Given the description of an element on the screen output the (x, y) to click on. 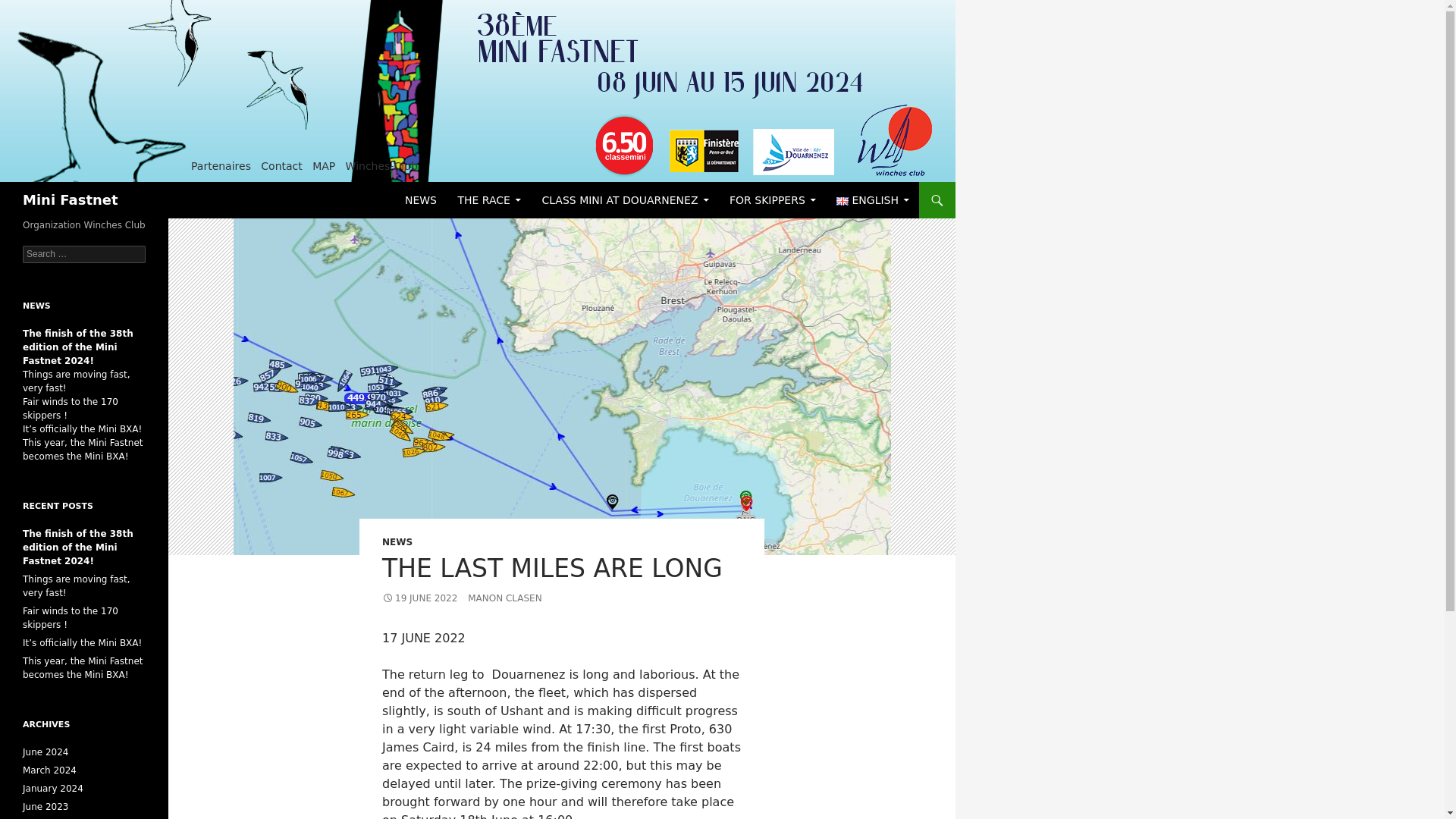
19 JUNE 2022 (419, 597)
Contact (280, 165)
Things are moving fast, very fast! (77, 381)
NEWS (396, 542)
FOR SKIPPERS (772, 199)
Pour contacter l'organisation (280, 165)
Winches-Club (381, 165)
The finish of the 38th edition of the Mini Fastnet 2024! (78, 347)
This year, the Mini Fastnet becomes the Mini BXA! (82, 449)
Search (30, 8)
page partenaires (220, 165)
Partenaires (220, 165)
MAP (323, 165)
